Given the description of an element on the screen output the (x, y) to click on. 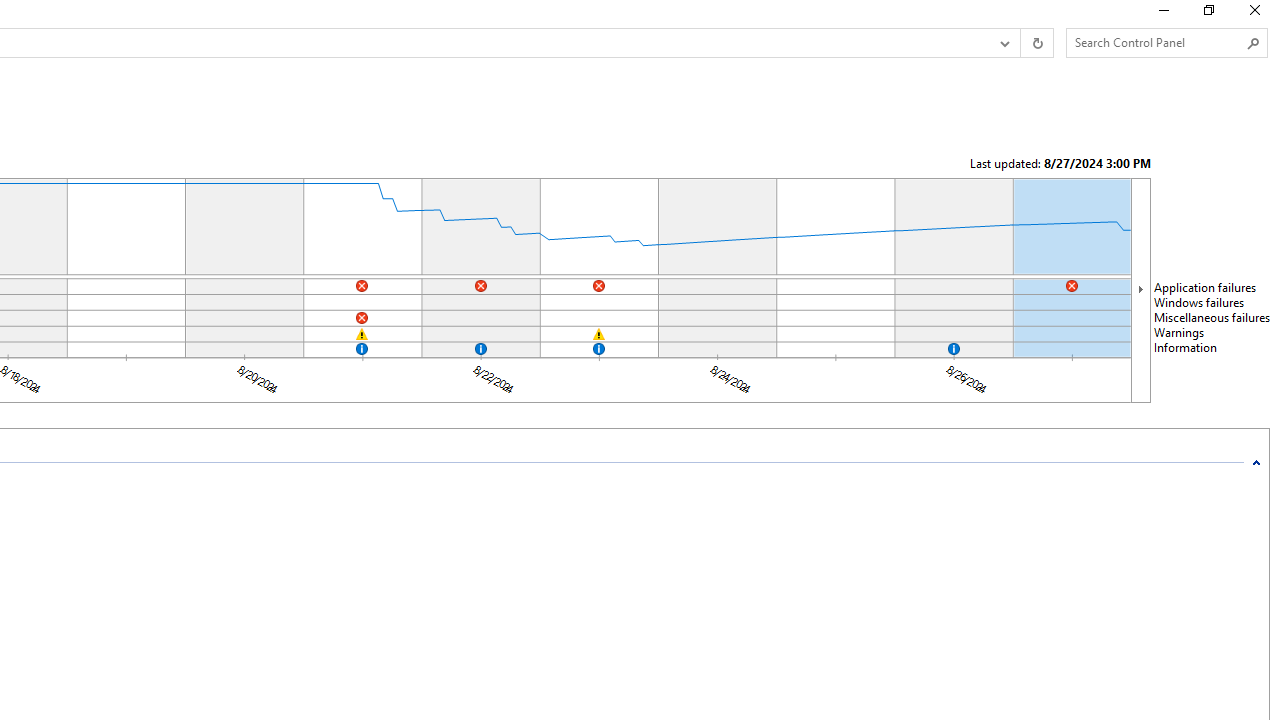
Previous Locations (1003, 43)
Refresh "Reliability Monitor" (F5) (1036, 43)
Address band toolbar (1019, 43)
Search (1253, 43)
Search Box (1156, 42)
Minimize (1162, 14)
ScrollRight (1140, 289)
Restore (1208, 14)
